Given the description of an element on the screen output the (x, y) to click on. 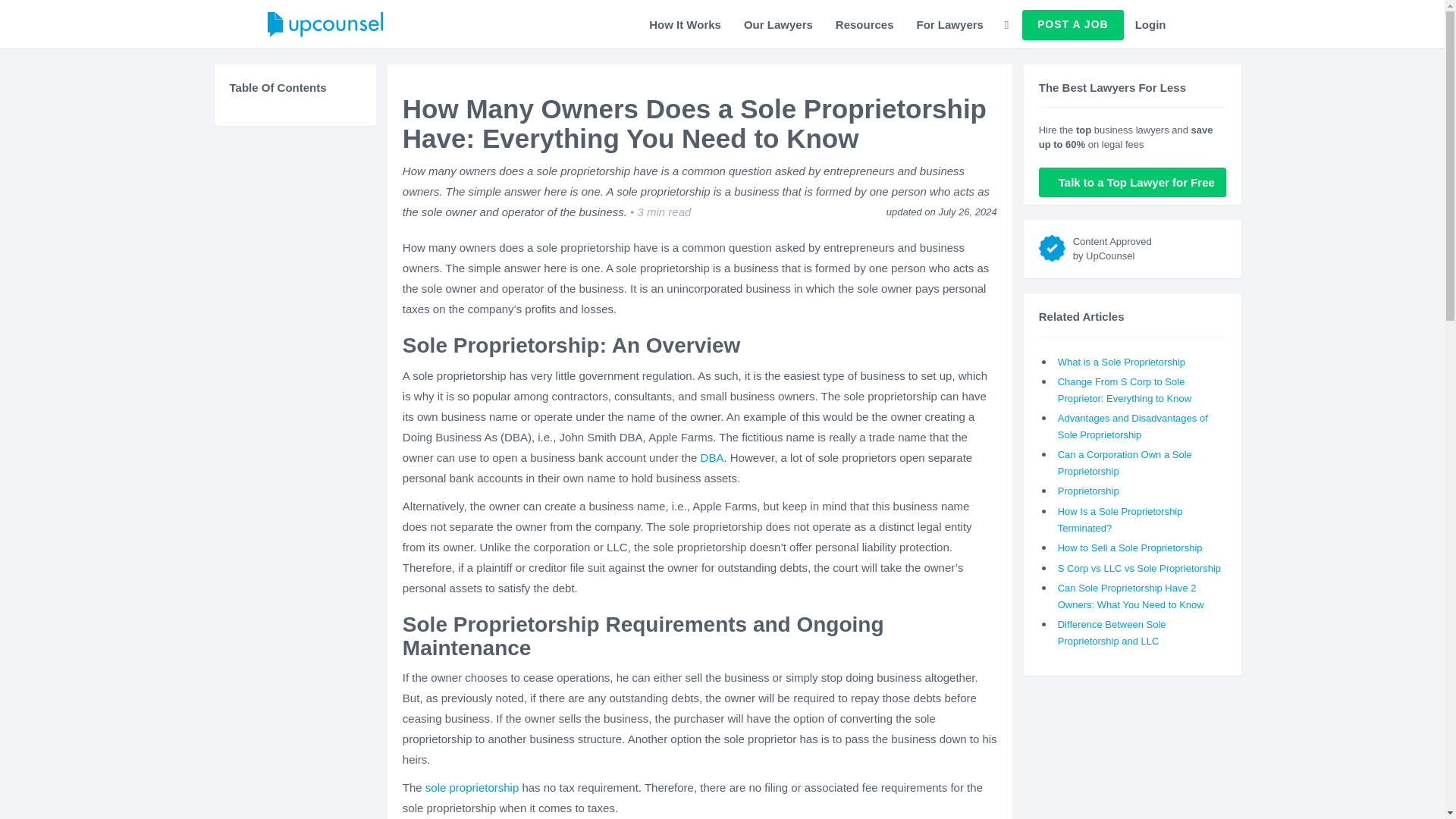
Can a Corporation Own a Sole Proprietorship (1125, 462)
What is a Sole Proprietorship (1121, 361)
Resources (864, 24)
How It Works (684, 24)
Login (1150, 24)
Proprietorship (1088, 490)
For Lawyers (949, 24)
DBA (711, 457)
Change From S Corp to Sole Proprietor: Everything to Know (1124, 389)
How Is a Sole Proprietorship Terminated? (1120, 519)
sole proprietorship (471, 787)
Our Lawyers (778, 24)
Advantages and Disadvantages of Sole Proprietorship (1133, 426)
